Given the description of an element on the screen output the (x, y) to click on. 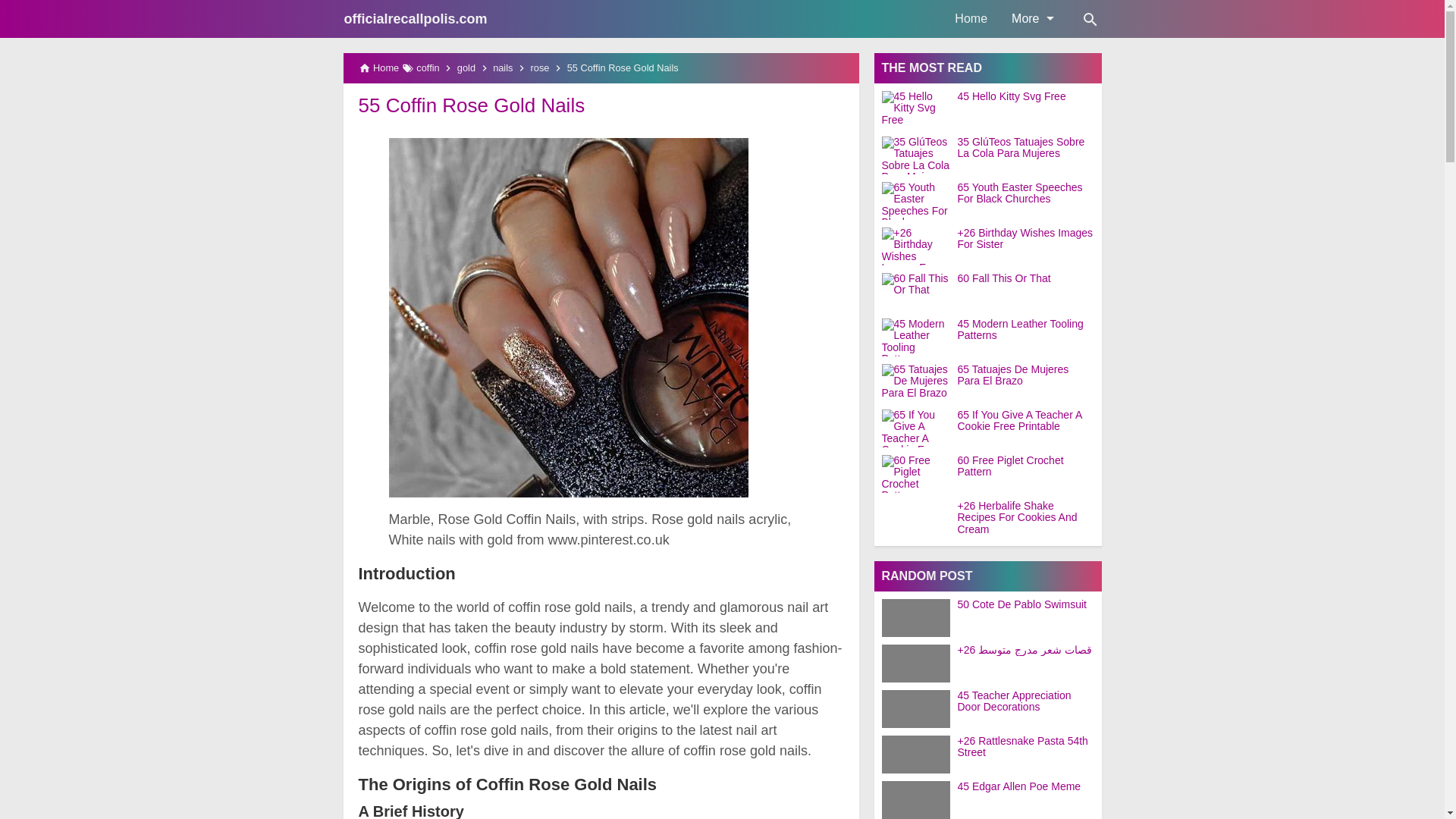
More (1030, 18)
officialrecallpolis.com (415, 18)
45 Hello Kitty Svg Free (1028, 96)
55 Coffin Rose Gold Nails (471, 105)
officialrecallpolis.com (415, 18)
55 Coffin Rose Gold Nails (471, 105)
Home (970, 18)
Home (970, 18)
